Given the description of an element on the screen output the (x, y) to click on. 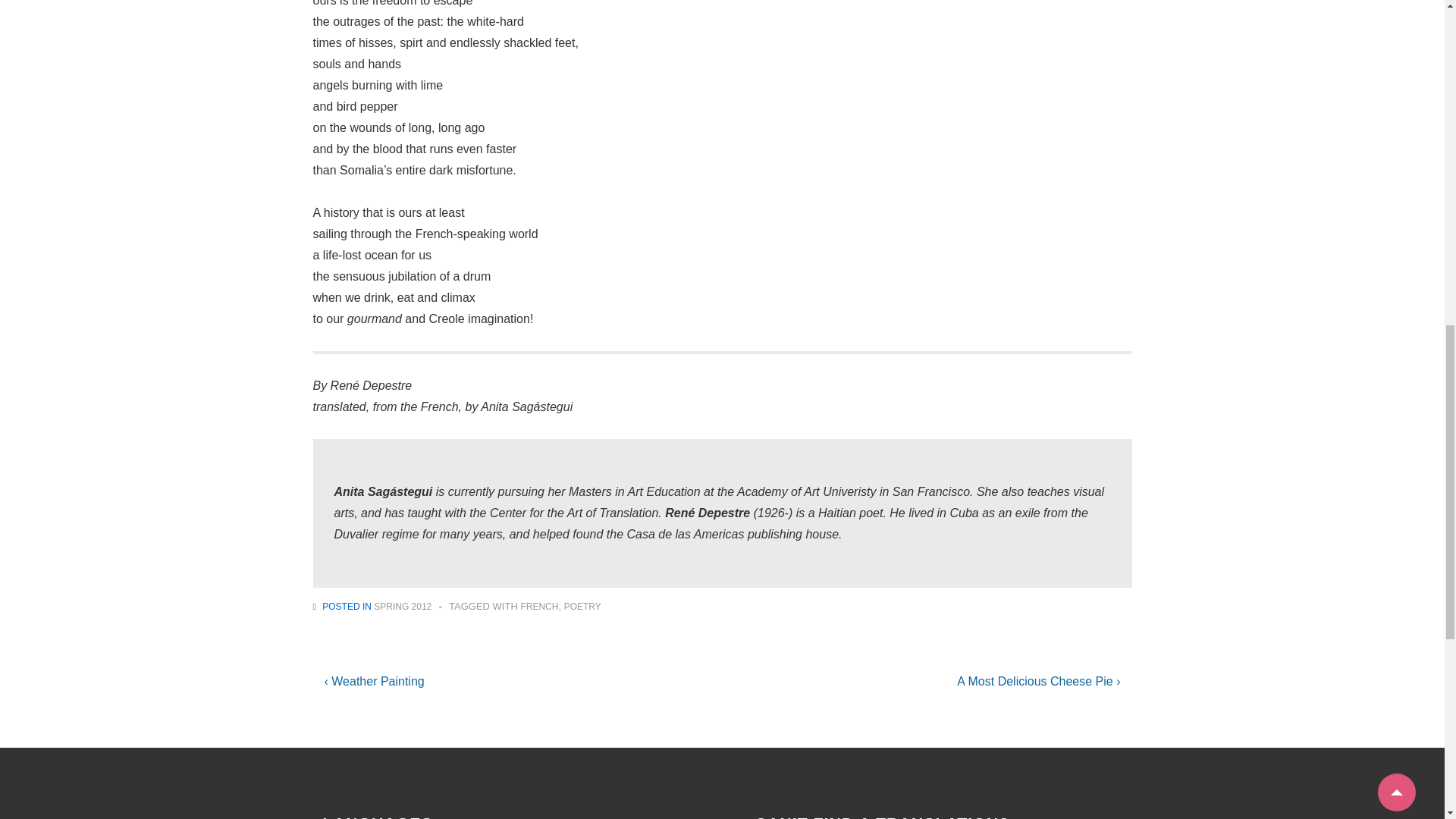
FRENCH (538, 606)
SPRING 2012 (402, 606)
POETRY (582, 606)
